Given the description of an element on the screen output the (x, y) to click on. 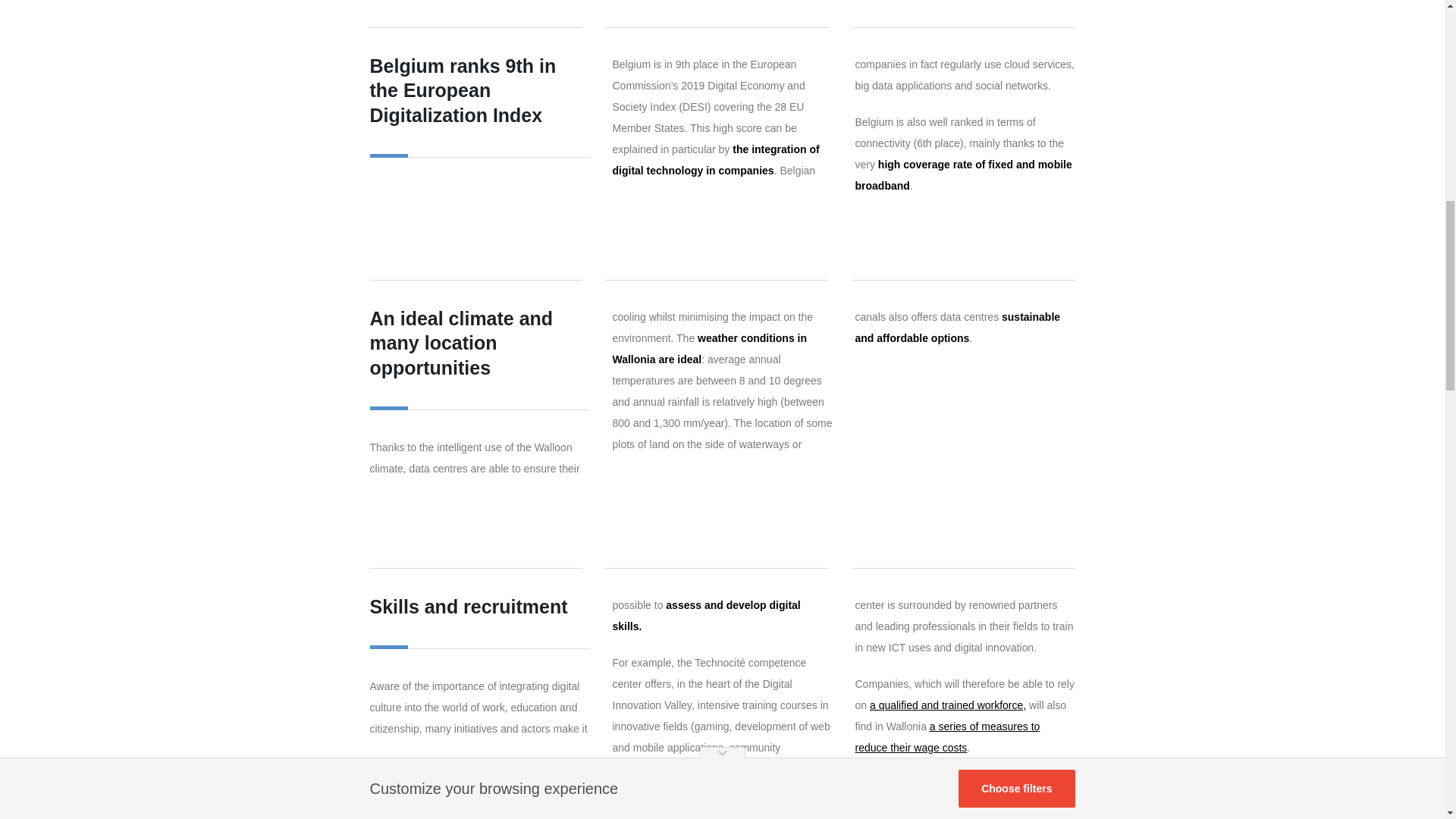
a series of measures to reduce their wage costs (948, 736)
YouTube video player (965, 420)
Social measures for companies (948, 736)
Qualified and productive human resources (947, 705)
a qualified and trained workforce, (947, 705)
